Given the description of an element on the screen output the (x, y) to click on. 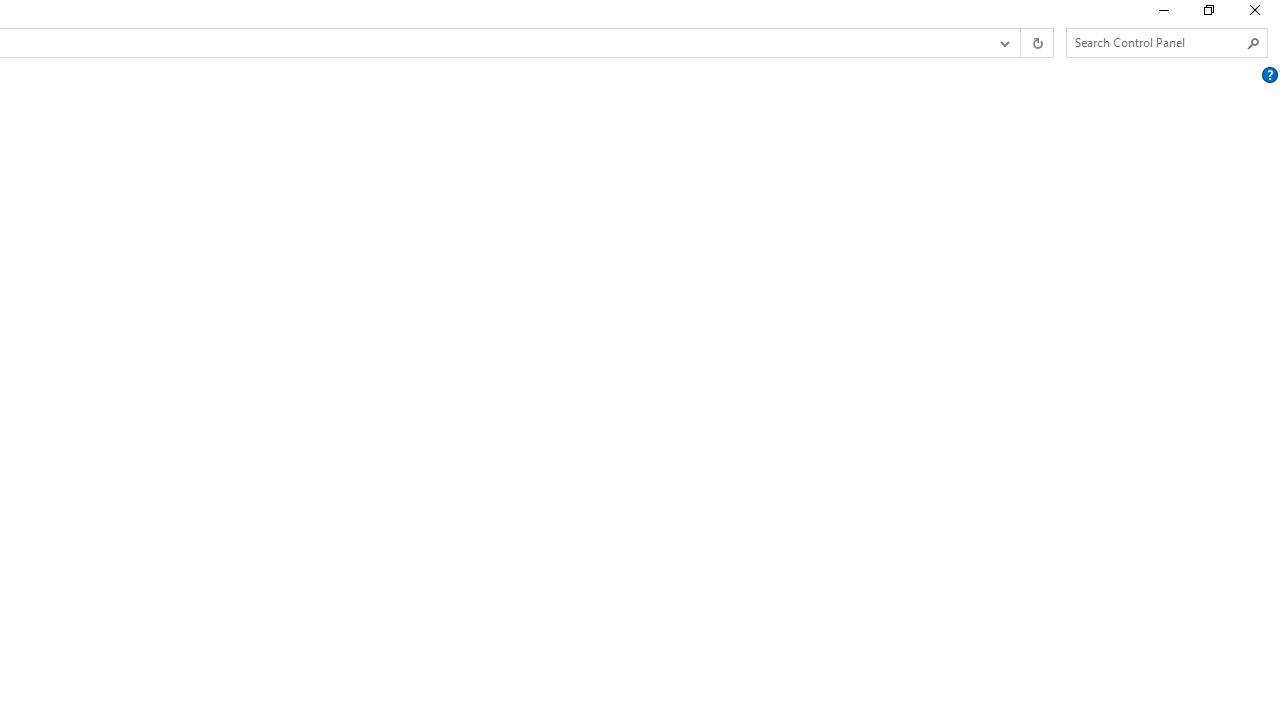
Address band toolbar (1019, 43)
Help (1269, 75)
Restore (1208, 14)
Minimize (1162, 14)
Refresh "File History" (F5) (1036, 43)
Search (1253, 43)
Previous Locations (1003, 43)
Search Box (1156, 42)
